Given the description of an element on the screen output the (x, y) to click on. 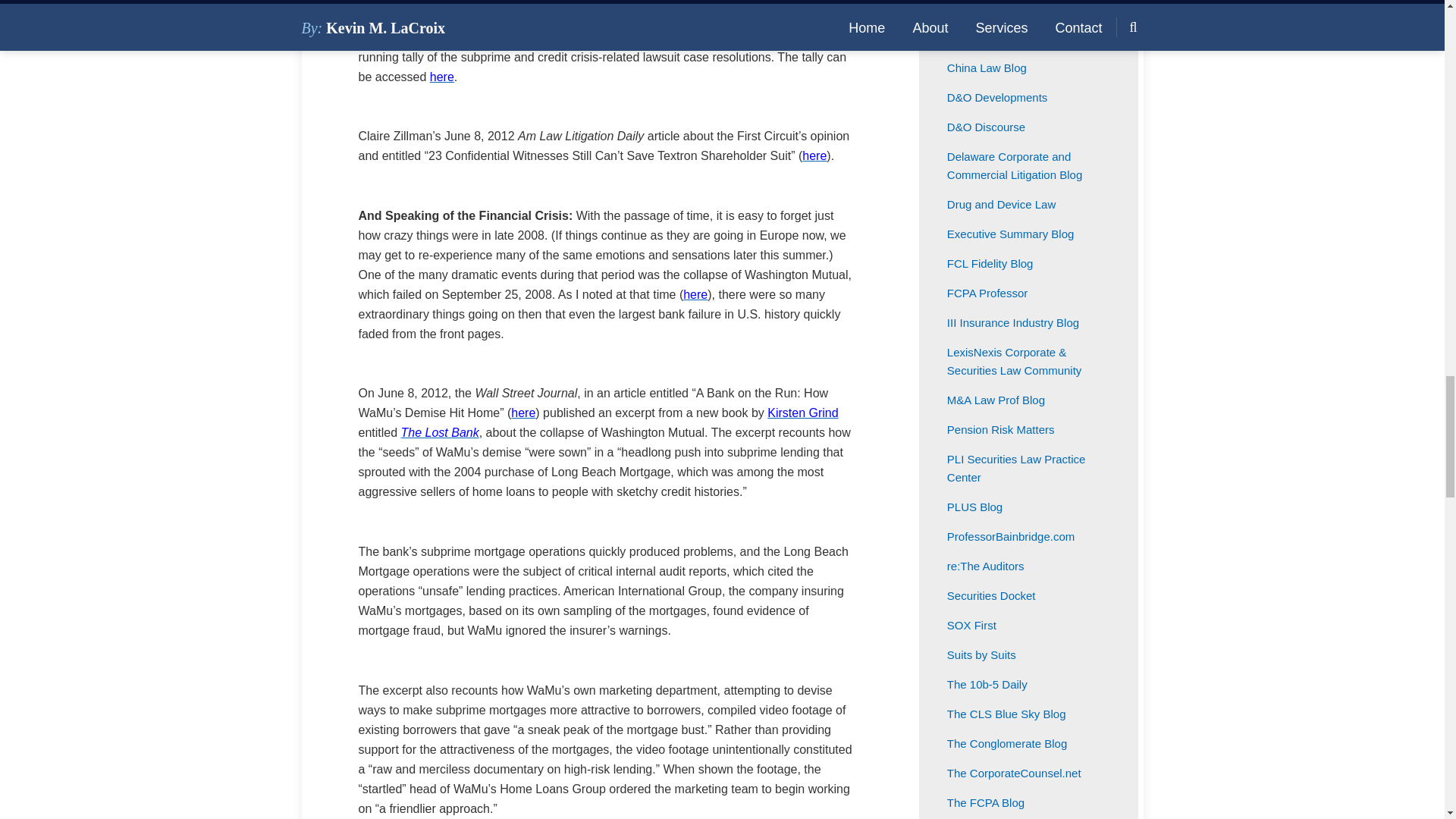
here (441, 75)
here (523, 412)
here (814, 155)
here (694, 294)
The Lost Bank (440, 431)
Kirsten Grind (802, 412)
